Given the description of an element on the screen output the (x, y) to click on. 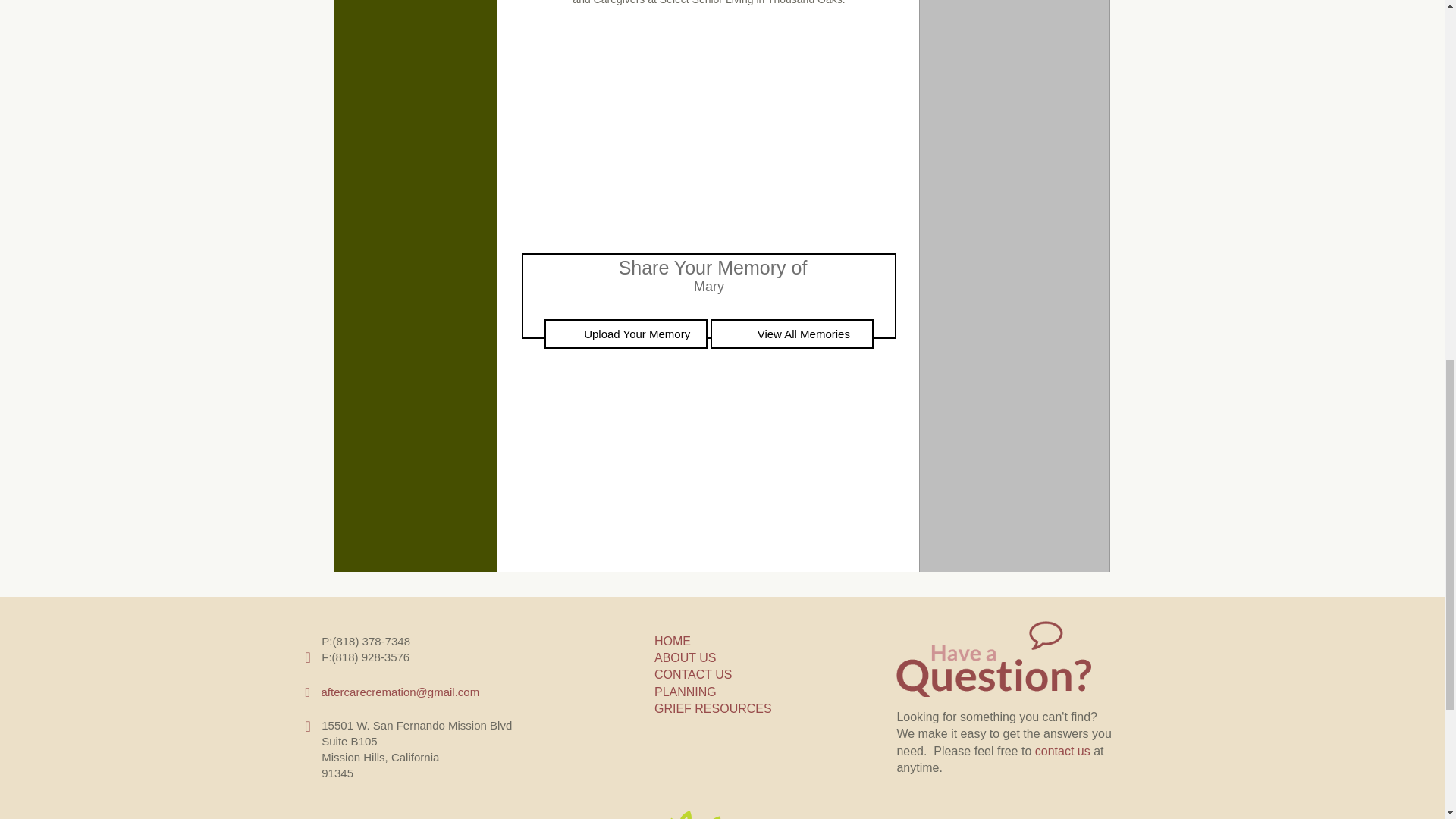
GRIEF RESOURCES (712, 707)
HOME (671, 640)
Upload Your Memory (625, 333)
PLANNING (684, 691)
ABOUT US (684, 657)
CONTACT US (692, 674)
View All Memories (791, 333)
